Given the description of an element on the screen output the (x, y) to click on. 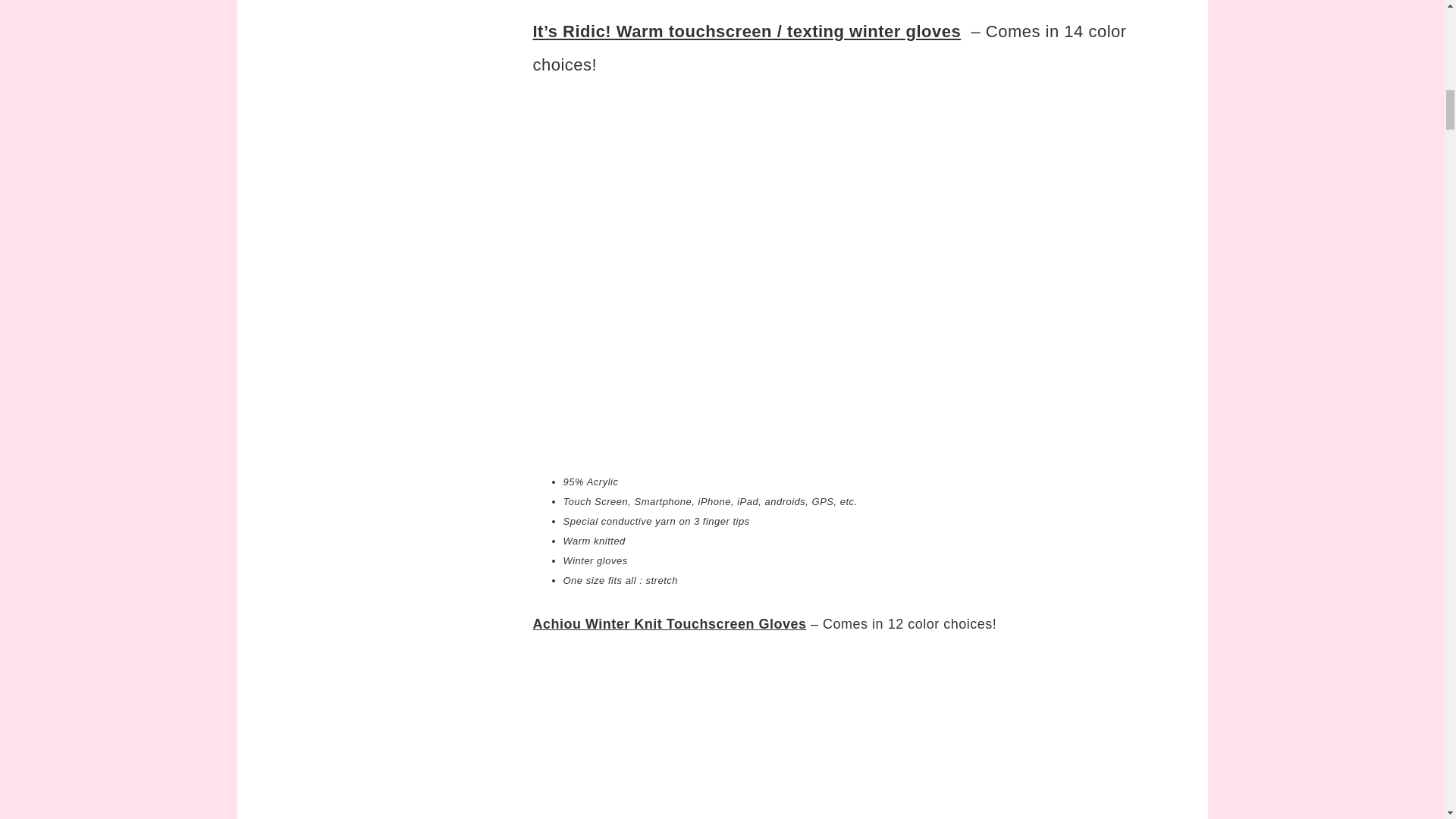
Achiou Winter Knit Touchscreen Gloves (669, 622)
